Given the description of an element on the screen output the (x, y) to click on. 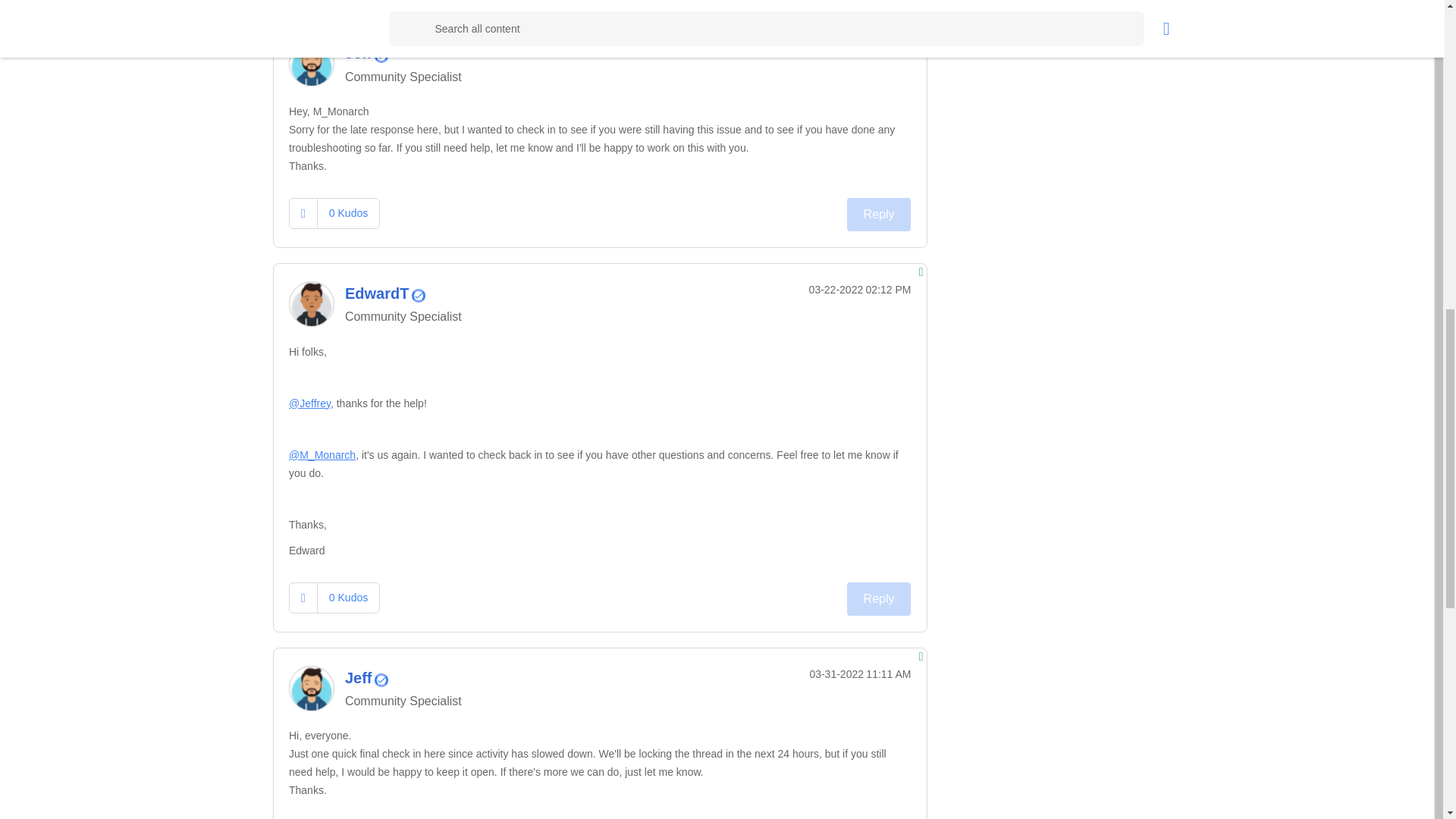
The total number of kudos this post has received. (347, 213)
Community Specialist (381, 56)
Jeff (311, 63)
Click here to give kudos to this post. (303, 213)
EdwardT (311, 303)
